Given the description of an element on the screen output the (x, y) to click on. 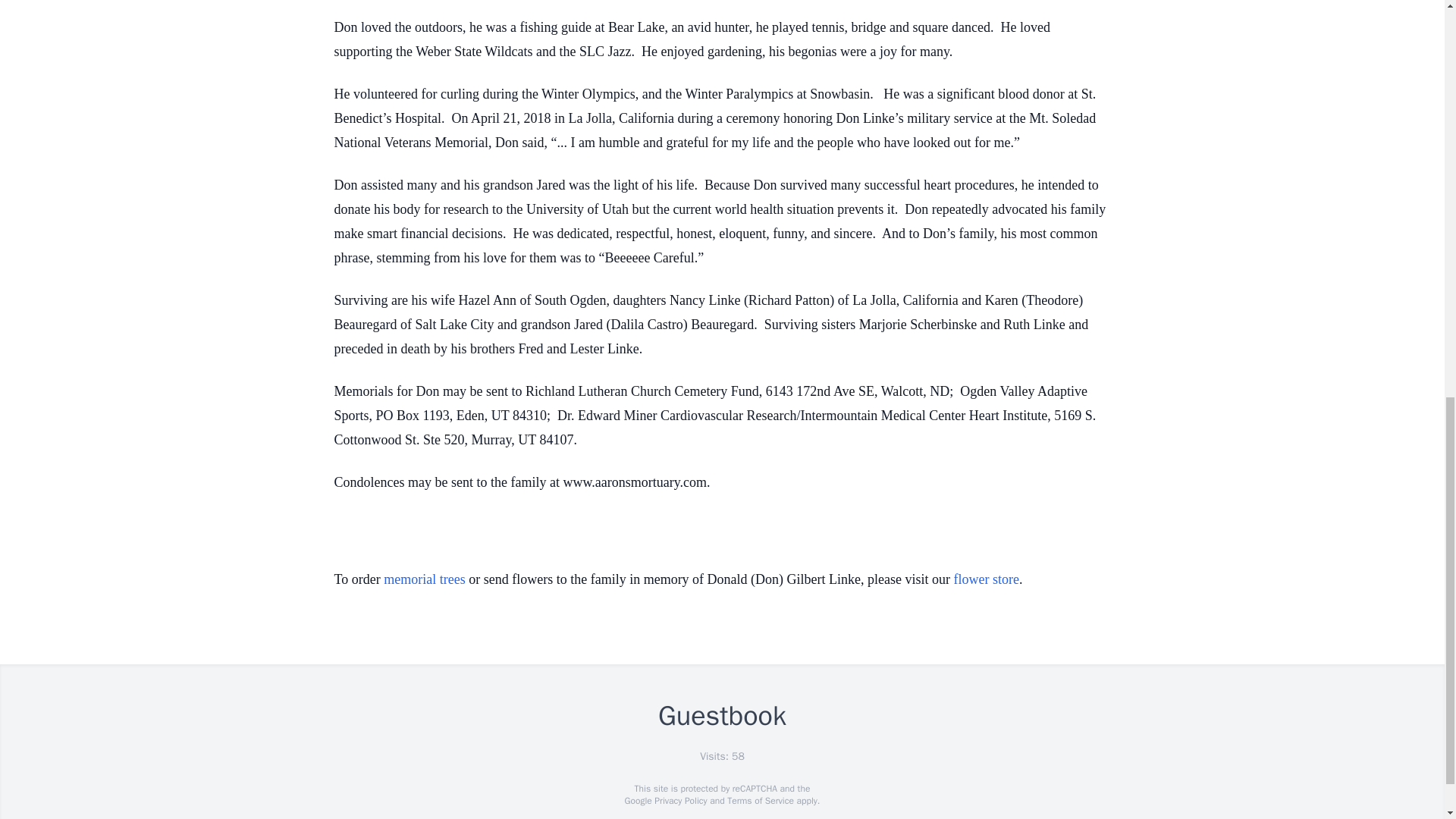
flower store (986, 579)
Privacy Policy (679, 800)
memorial trees (424, 579)
Terms of Service (759, 800)
